Given the description of an element on the screen output the (x, y) to click on. 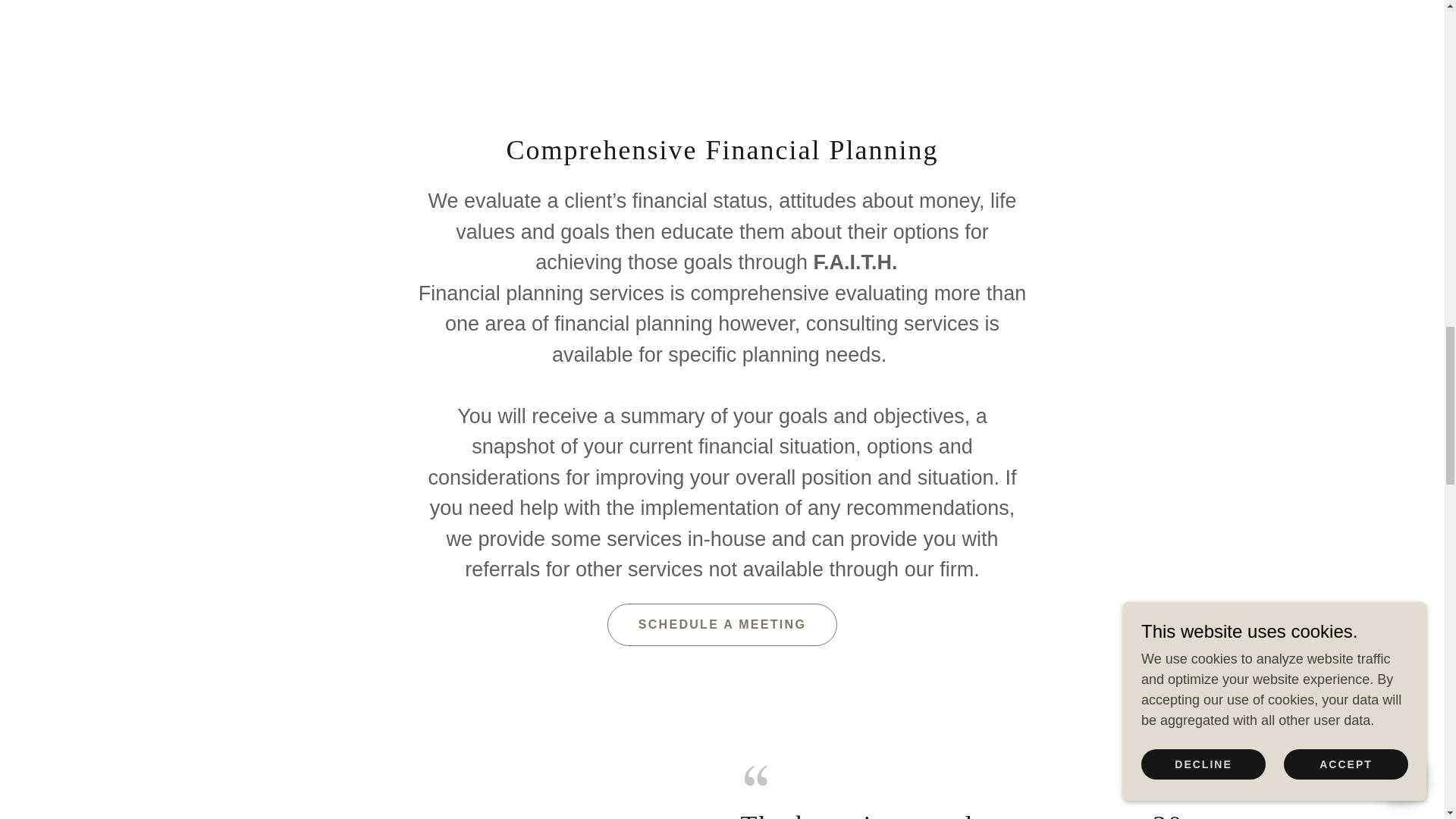
SCHEDULE A MEETING (722, 624)
